Given the description of an element on the screen output the (x, y) to click on. 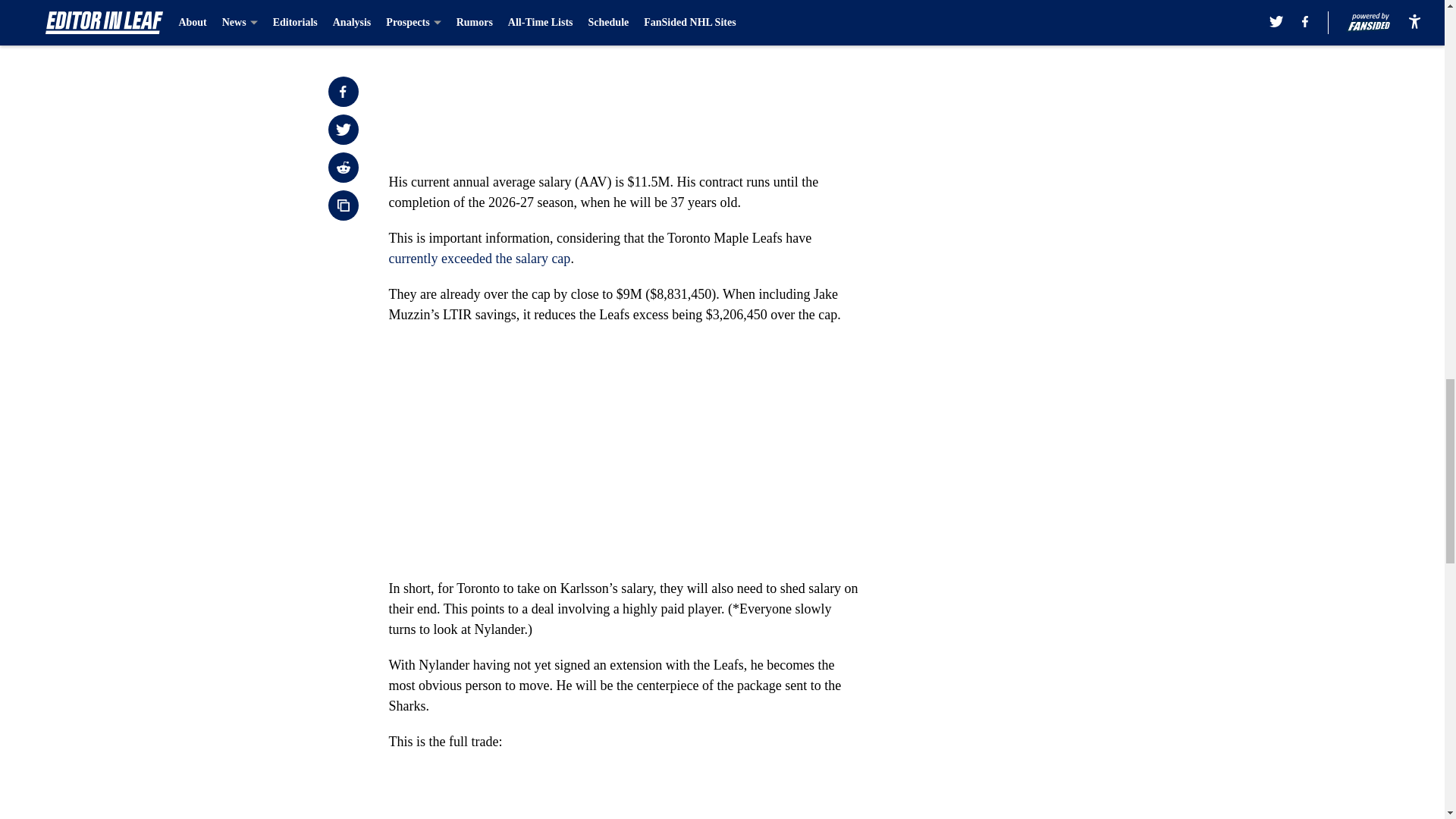
currently exceeded the salary cap (479, 258)
